Given the description of an element on the screen output the (x, y) to click on. 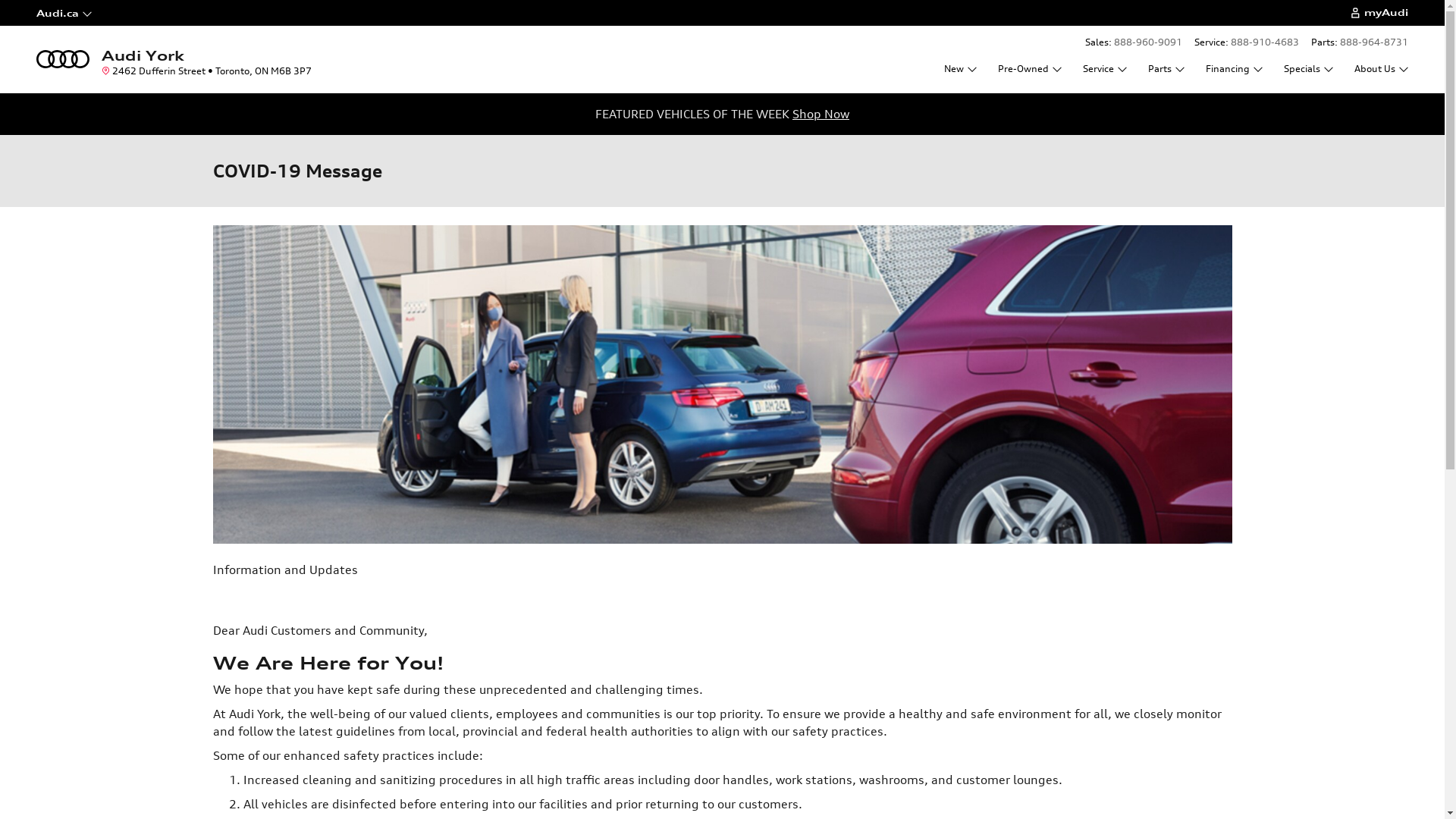
Parts Element type: text (1166, 68)
Specials Element type: text (1308, 68)
Service Element type: text (1104, 68)
Pre-Owned Element type: text (1029, 68)
myAudi Element type: text (1378, 12)
New Element type: text (960, 68)
Audi.ca Element type: text (93, 12)
2462 Dufferin Street

Toronto
,
ON
M6B 3P7 Element type: text (205, 70)
Skip to main content Element type: text (0, 0)
Home Element type: hover (62, 57)
Shop Now Element type: text (820, 113)
About Us Element type: text (1379, 68)
Financing Element type: text (1233, 68)
